Given the description of an element on the screen output the (x, y) to click on. 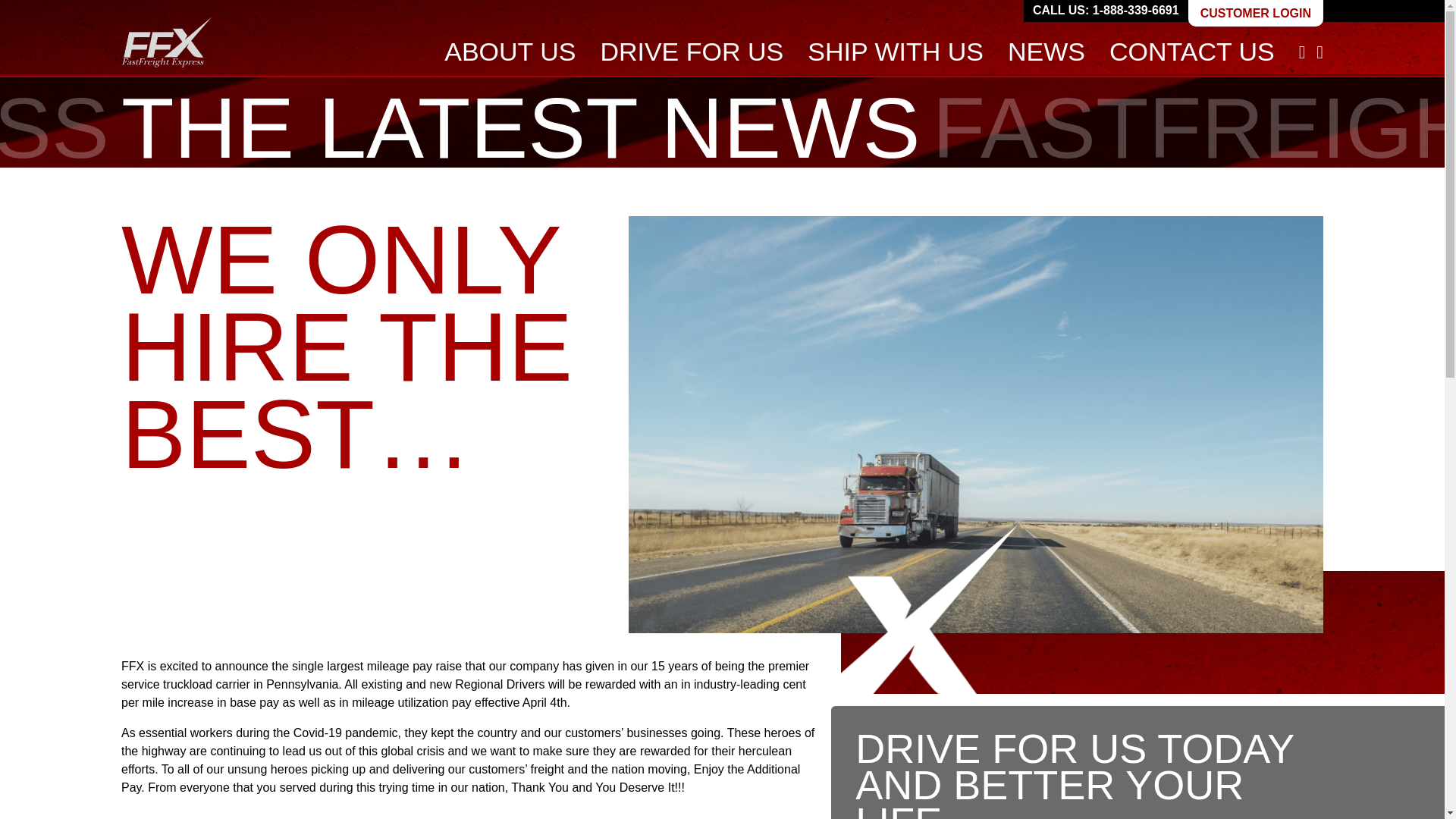
ABOUT US (510, 51)
DRIVE FOR US (691, 51)
NEWS (1046, 51)
SHIP WITH US (894, 51)
CUSTOMER LOGIN (1255, 13)
CONTACT US (1192, 51)
CALL US: 1-888-339-6691 (1105, 11)
